Given the description of an element on the screen output the (x, y) to click on. 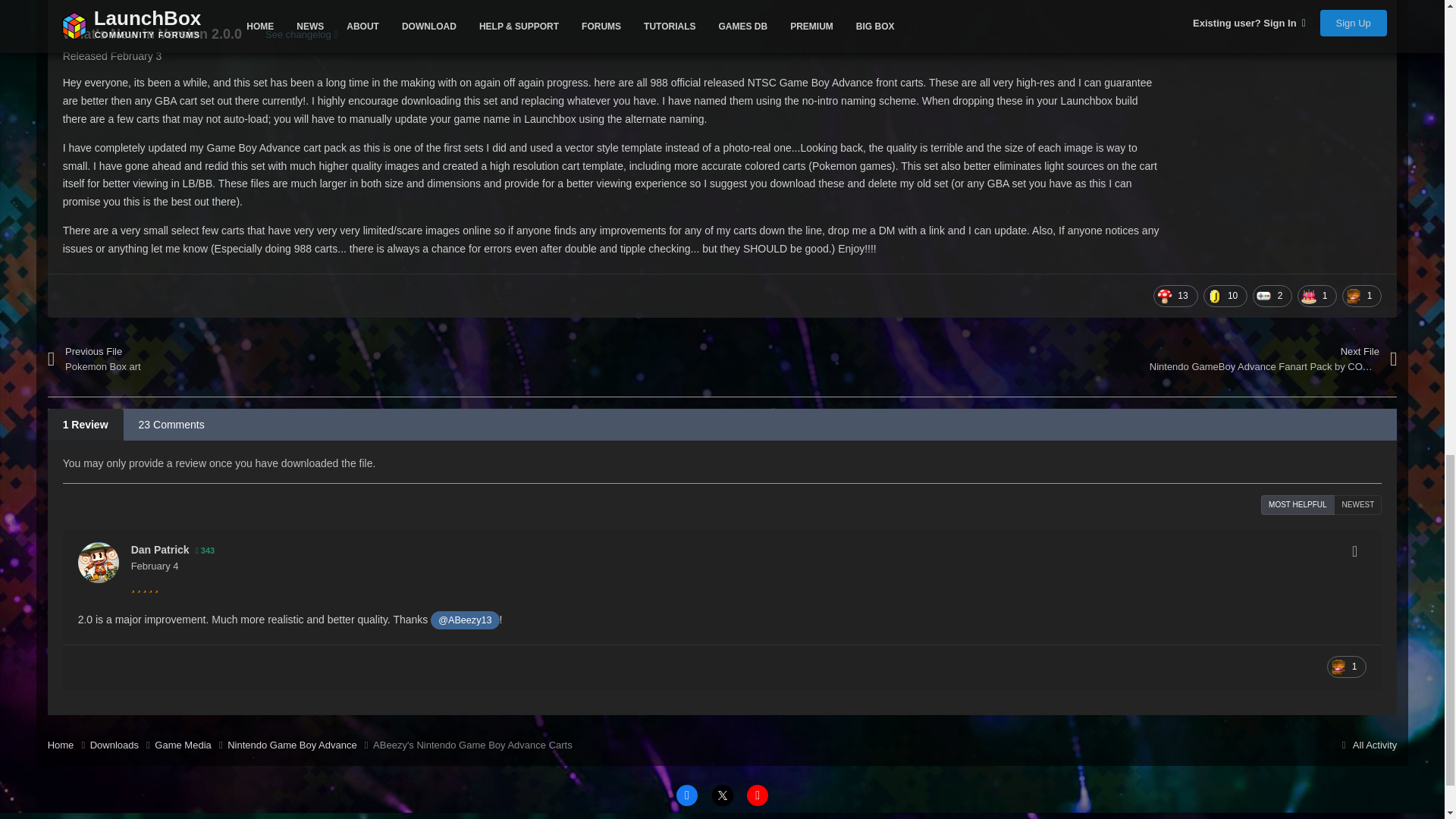
See the version history for this file (301, 34)
